Given the description of an element on the screen output the (x, y) to click on. 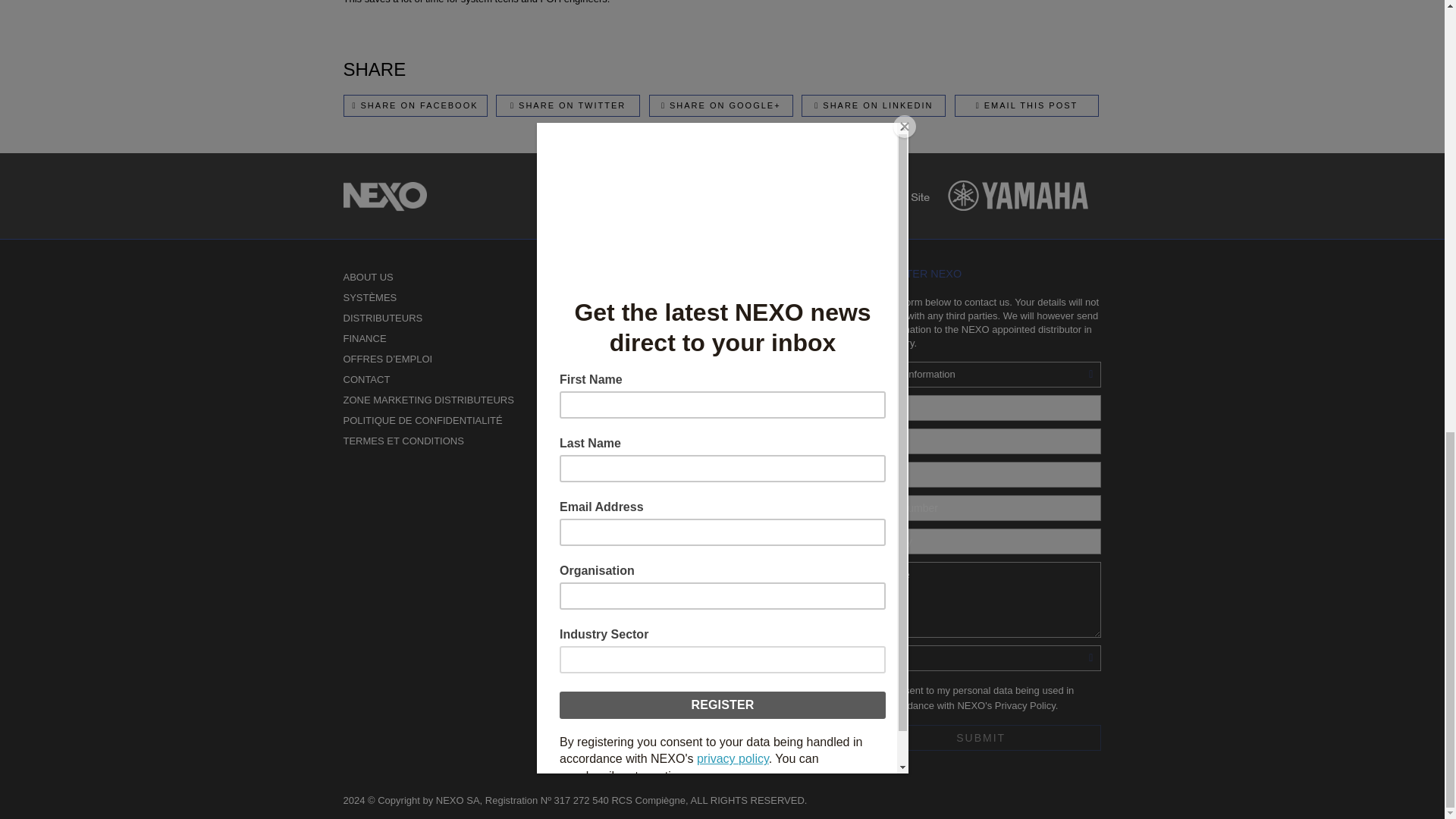
Submit (981, 737)
